Given the description of an element on the screen output the (x, y) to click on. 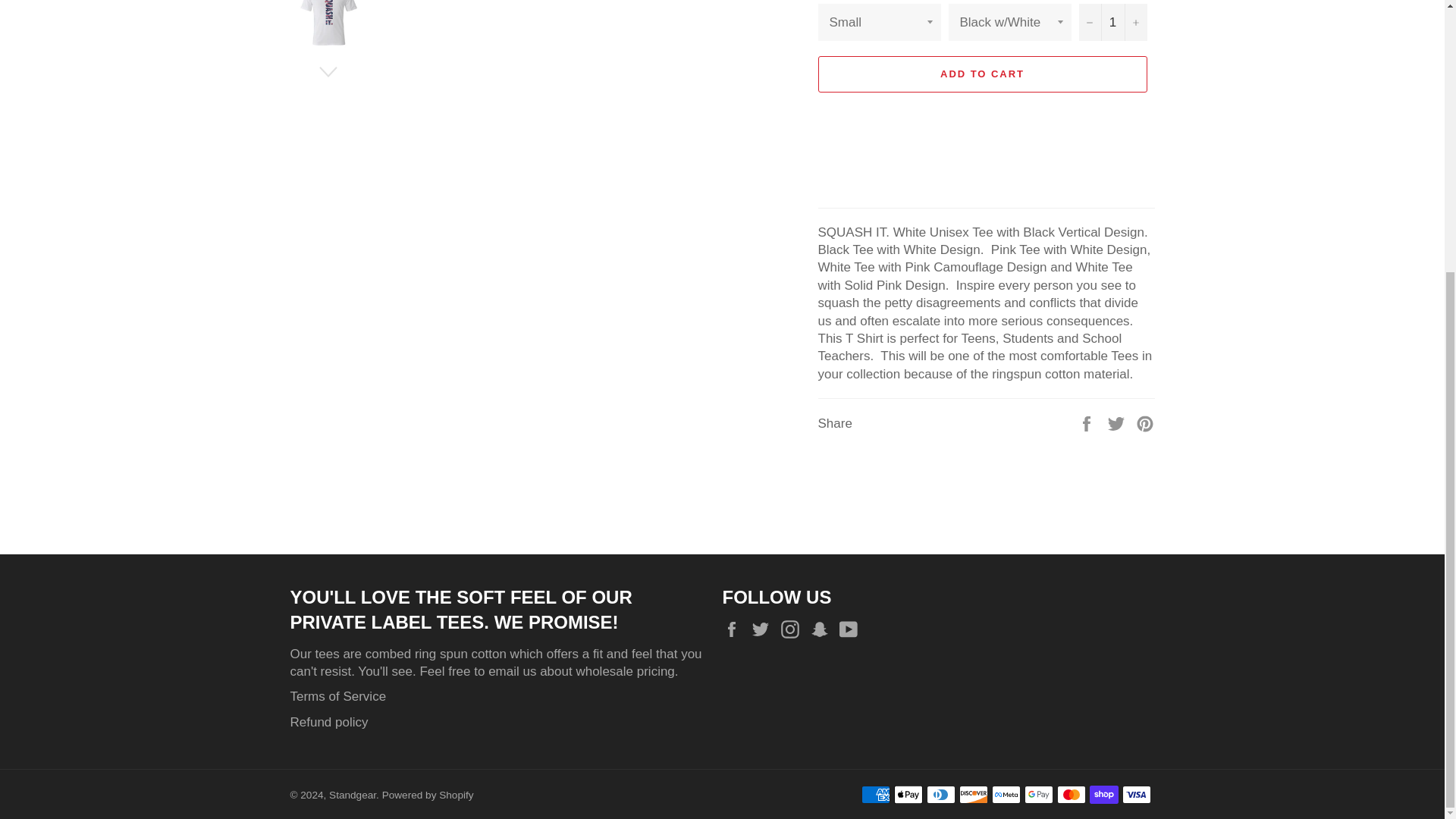
Pin on Pinterest (1144, 422)
Share on Facebook (1088, 422)
Standgear on Facebook (735, 629)
Standgear on Snapchat (822, 629)
Tweet on Twitter (1117, 422)
Standgear on Twitter (764, 629)
1 (1112, 22)
Standgear on Instagram (793, 629)
Standgear on YouTube (852, 629)
